Given the description of an element on the screen output the (x, y) to click on. 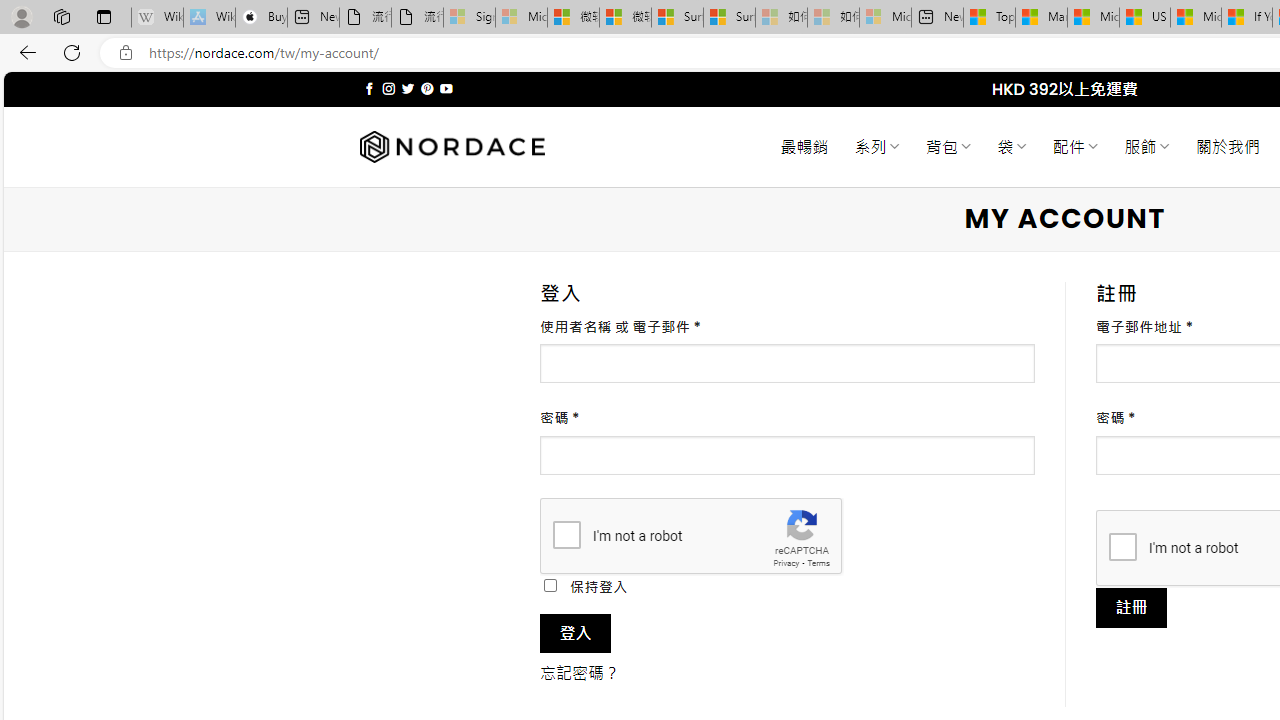
Marine life - MSN (1041, 17)
Microsoft account | Account Checkup - Sleeping (885, 17)
Follow on Twitter (406, 88)
